Given the description of an element on the screen output the (x, y) to click on. 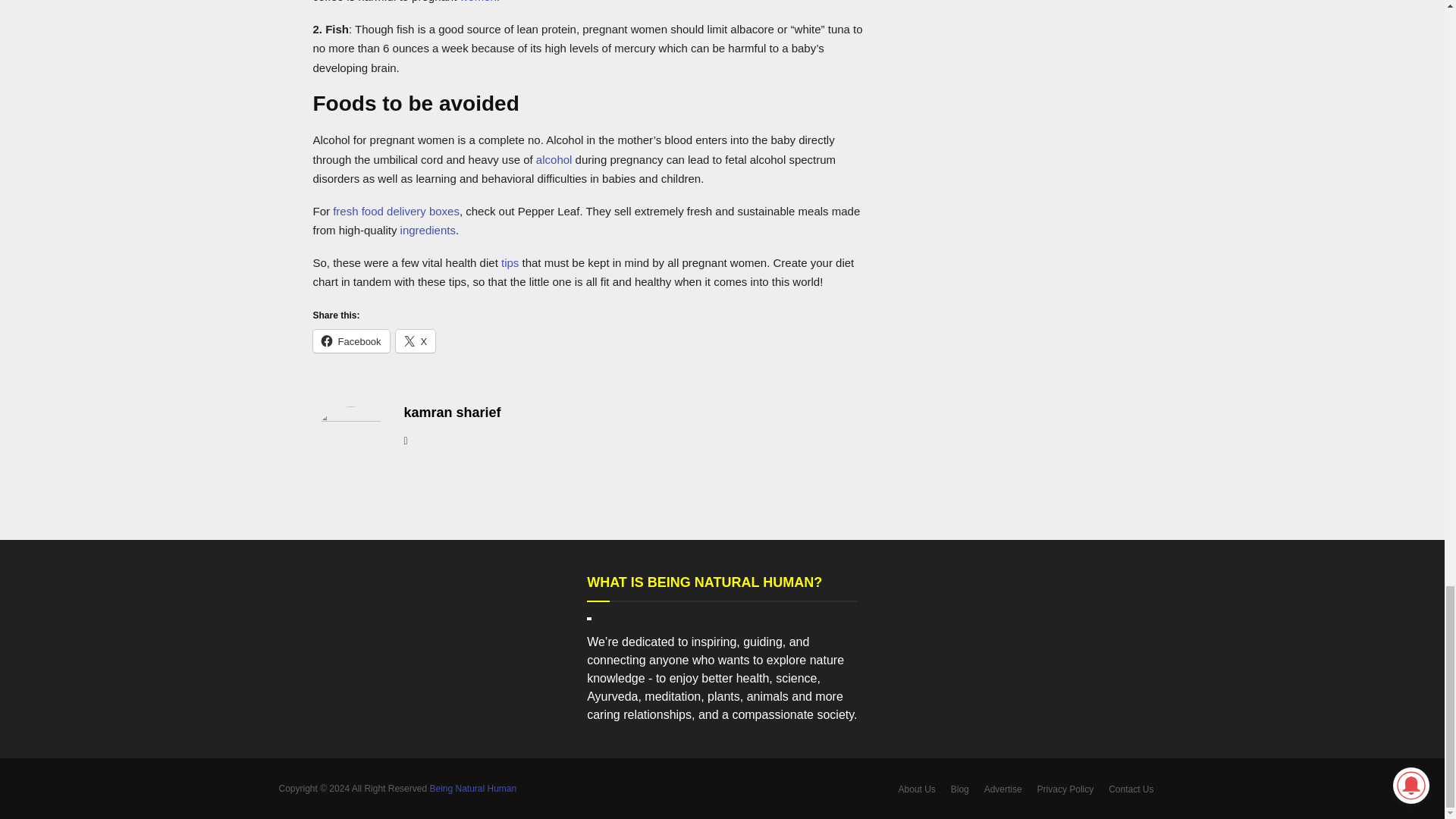
Posts by kamran sharief (451, 412)
Click to share on X (415, 341)
Click to share on Facebook (350, 341)
